Given the description of an element on the screen output the (x, y) to click on. 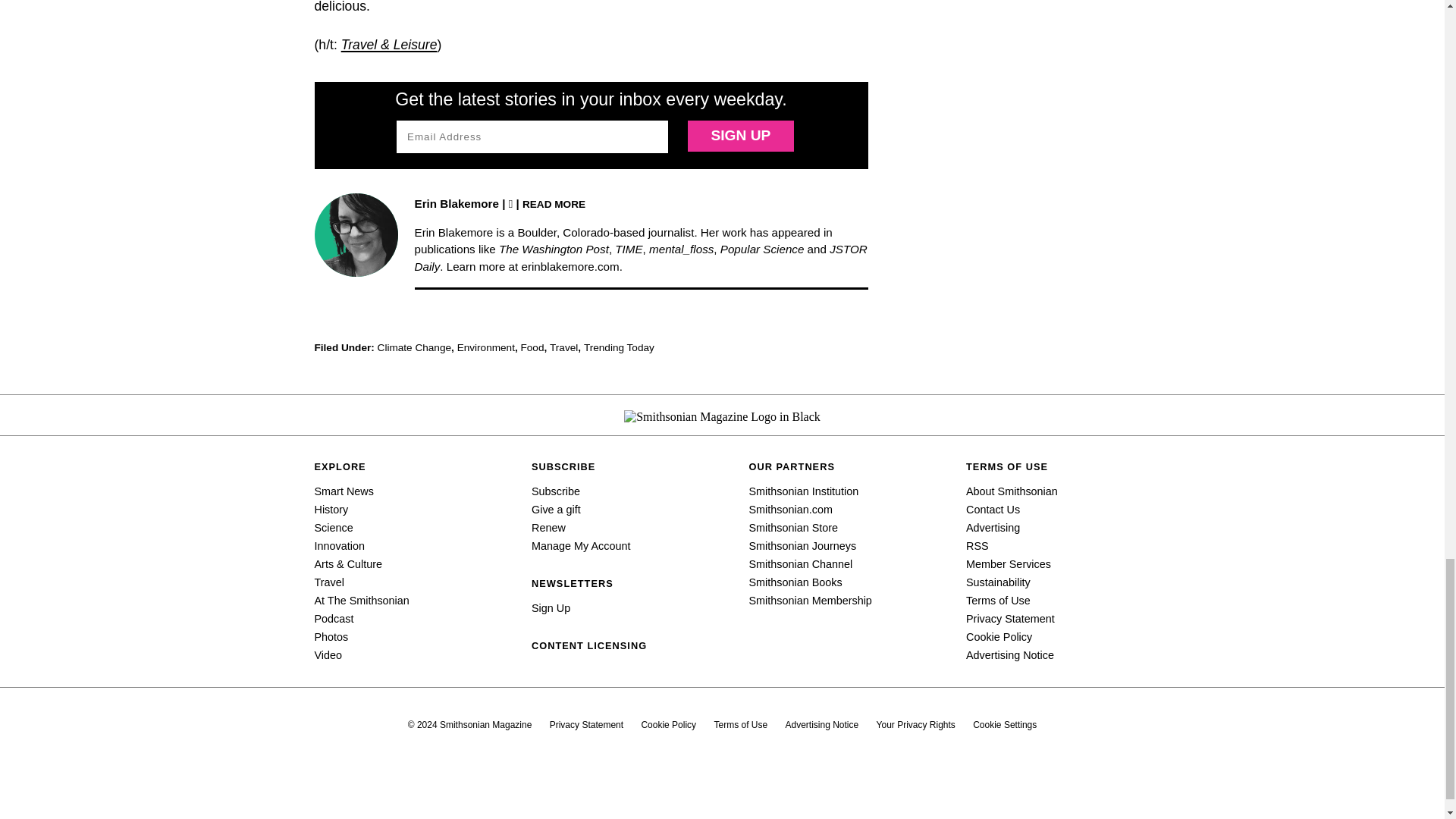
Sign Up (740, 135)
Read more from this author (553, 203)
